Given the description of an element on the screen output the (x, y) to click on. 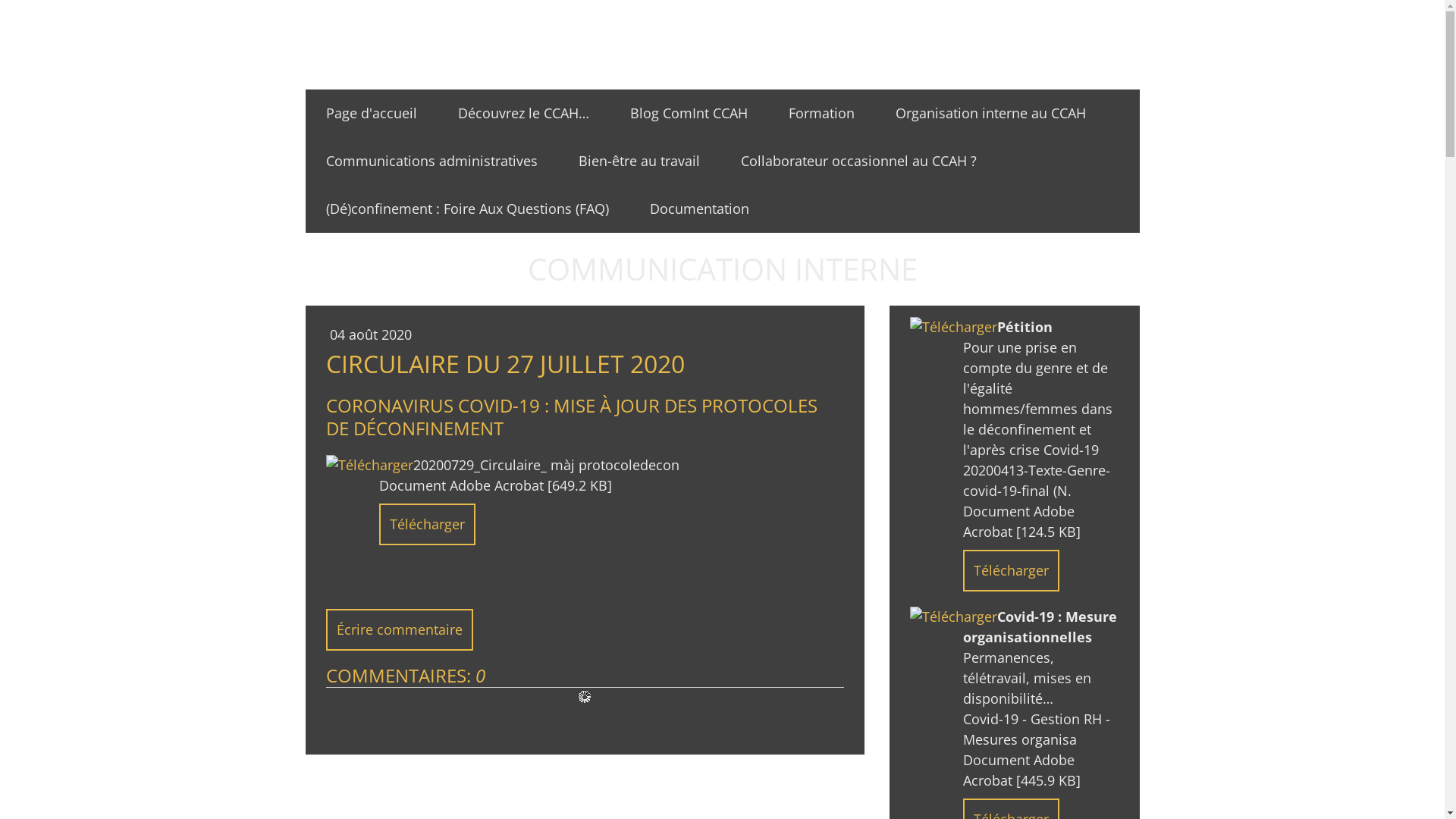
Communications administratives Element type: text (430, 161)
Formation Element type: text (820, 113)
Collaborateur occasionnel au CCAH ? Element type: text (858, 161)
Documentation Element type: text (699, 208)
Page d'accueil Element type: text (370, 113)
Blog ComInt CCAH Element type: text (688, 113)
Organisation interne au CCAH Element type: text (990, 113)
COMMUNICATION INTERNE Element type: text (722, 269)
